Given the description of an element on the screen output the (x, y) to click on. 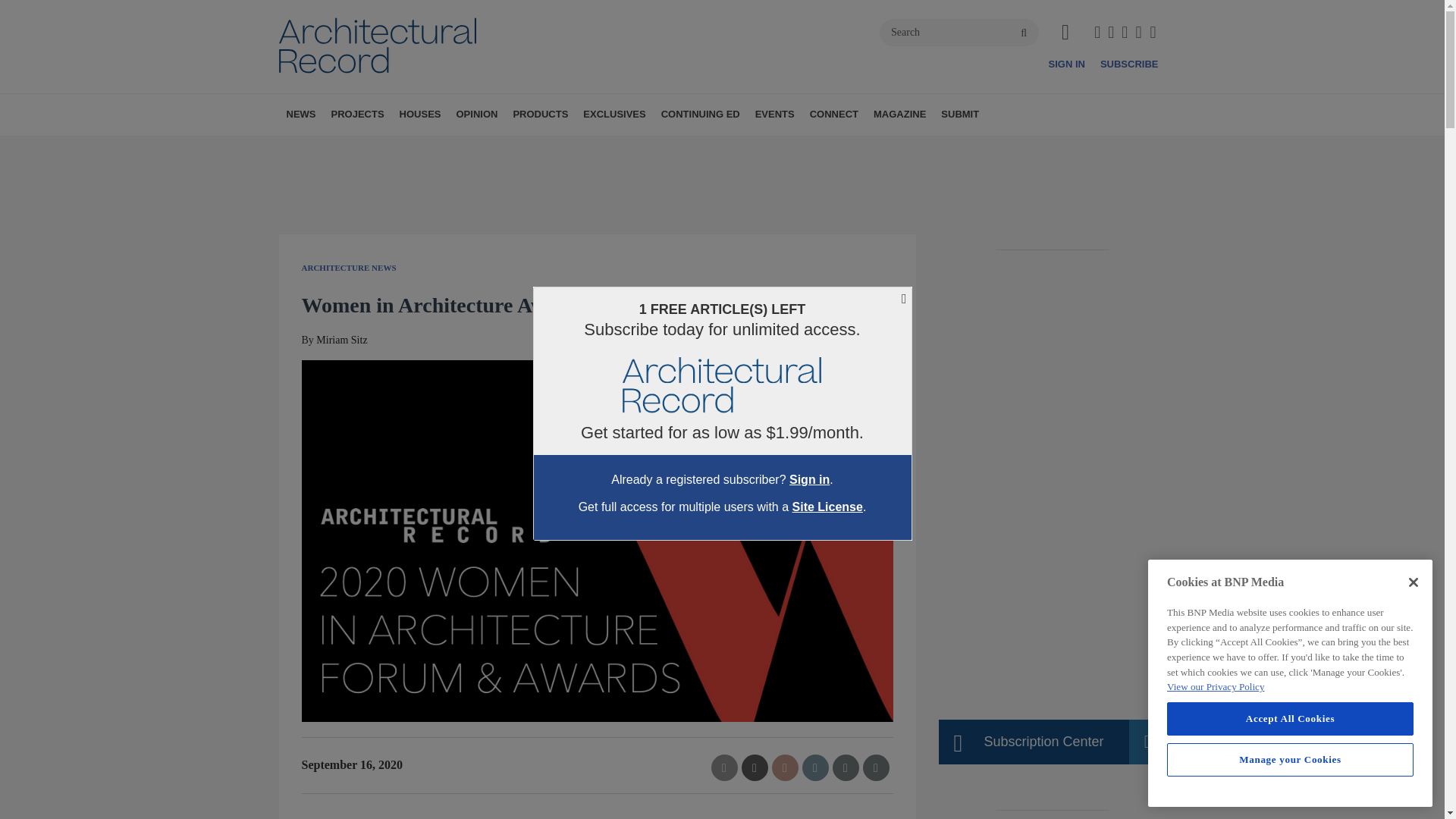
Search (959, 31)
Search (959, 31)
